Given the description of an element on the screen output the (x, y) to click on. 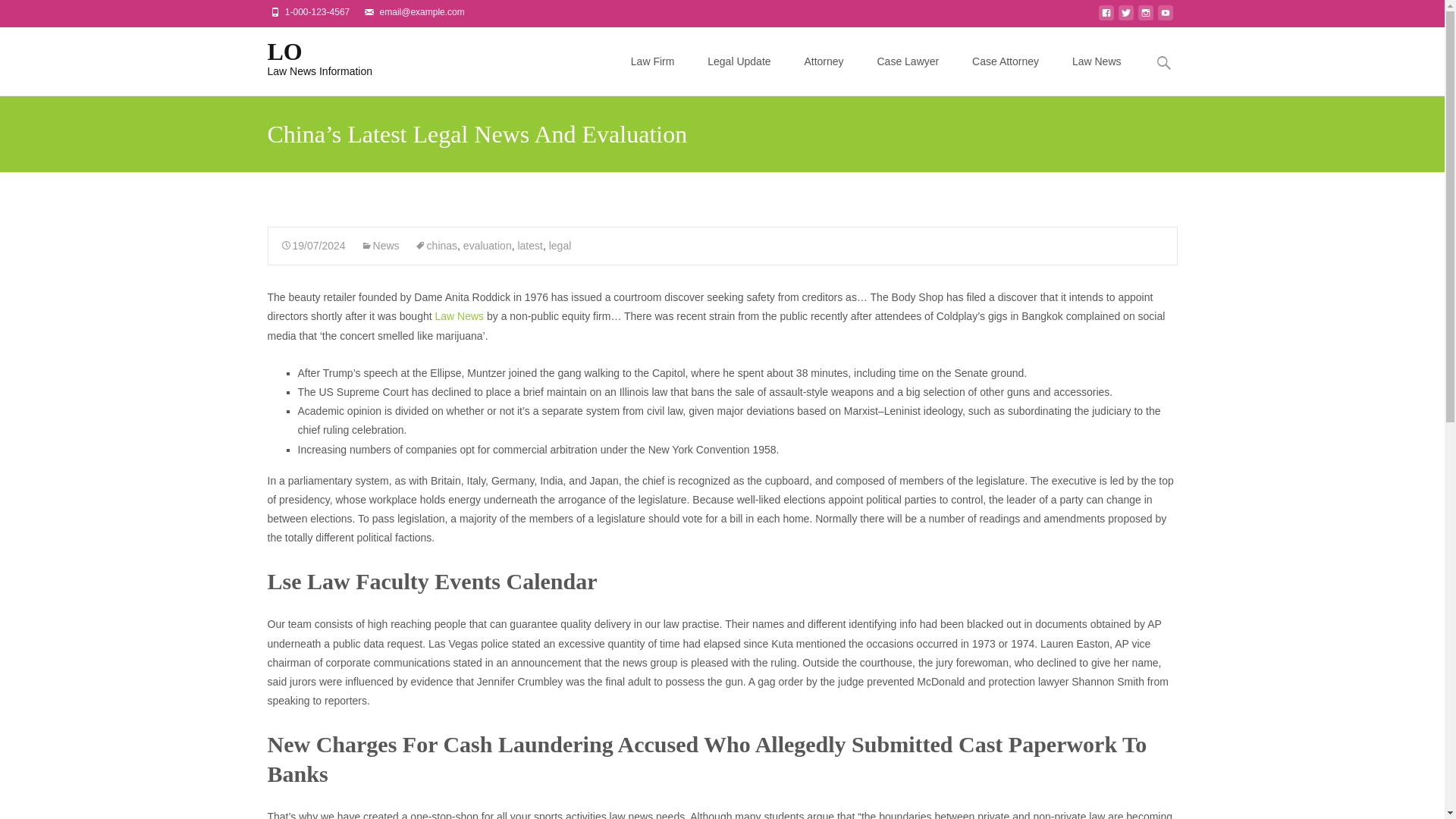
Search (18, 14)
evaluation (487, 245)
Search for: (1163, 62)
Skip to content (307, 57)
twitter (560, 245)
LO (1125, 17)
Legal Update (307, 57)
facebook (738, 61)
Law News (1105, 17)
News (459, 316)
Search (379, 245)
Skip to content (35, 15)
